Given the description of an element on the screen output the (x, y) to click on. 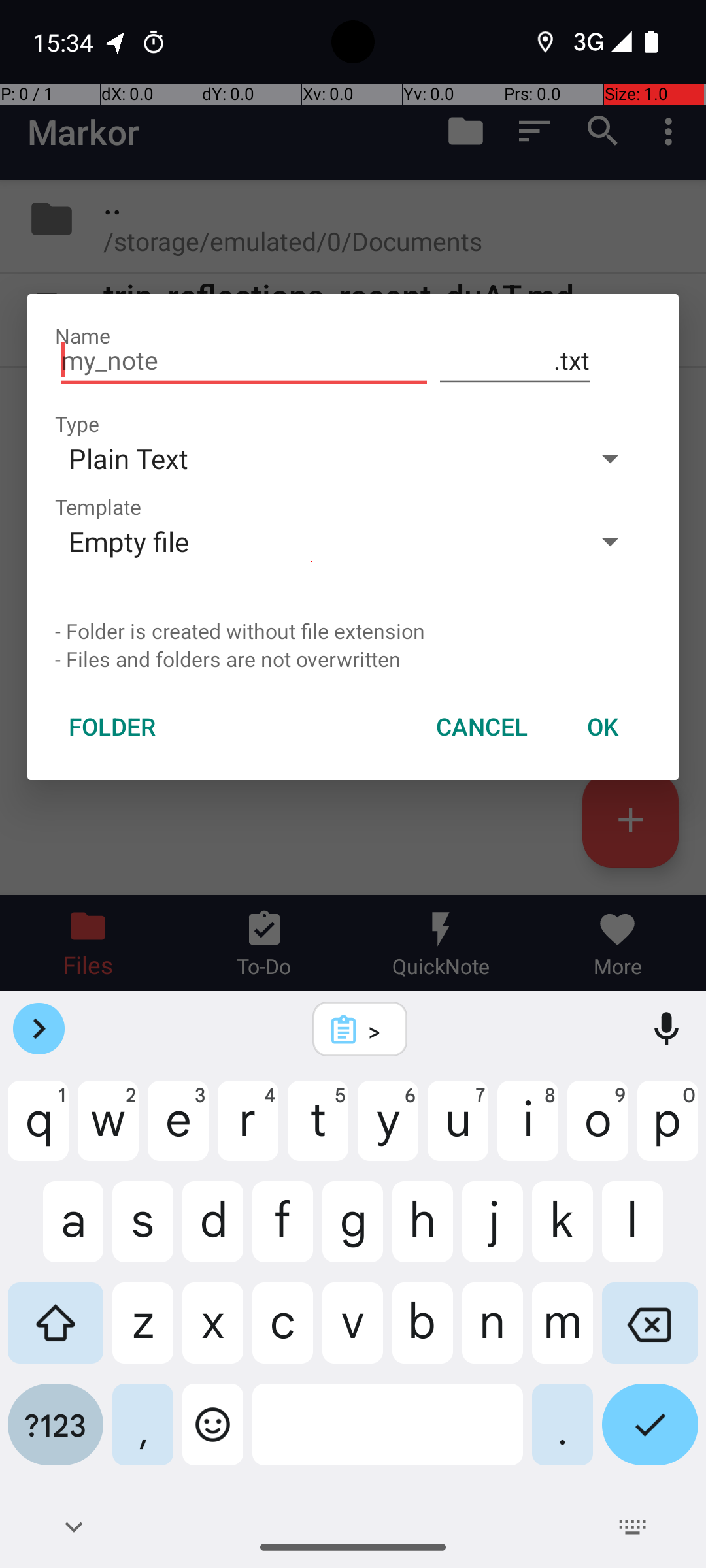
.txt Element type: android.widget.EditText (514, 360)
>  Element type: android.widget.TextView (377, 1029)
